Given the description of an element on the screen output the (x, y) to click on. 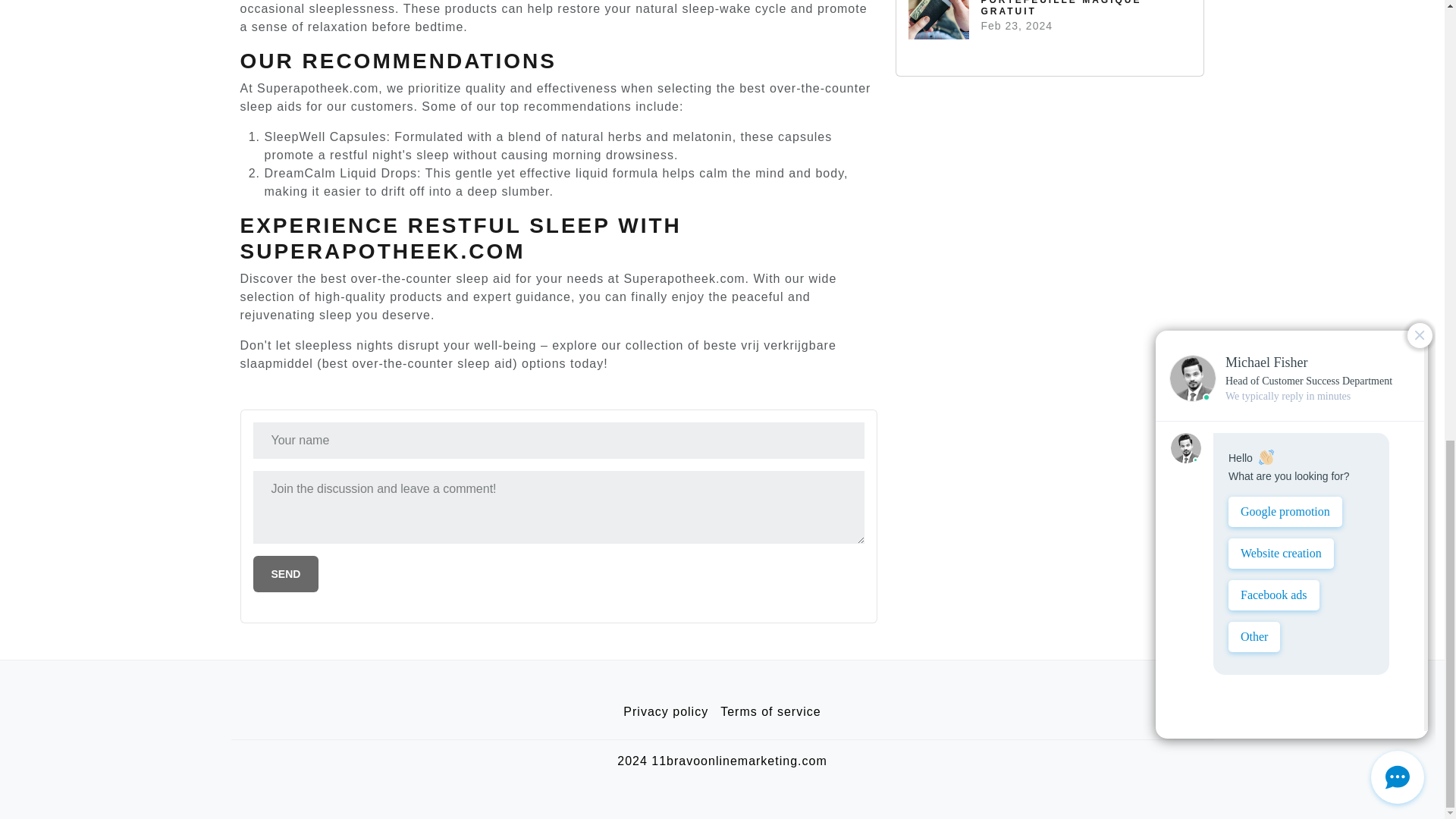
Privacy policy (665, 711)
Send (285, 574)
Terms of service (770, 711)
Send (285, 574)
